Given the description of an element on the screen output the (x, y) to click on. 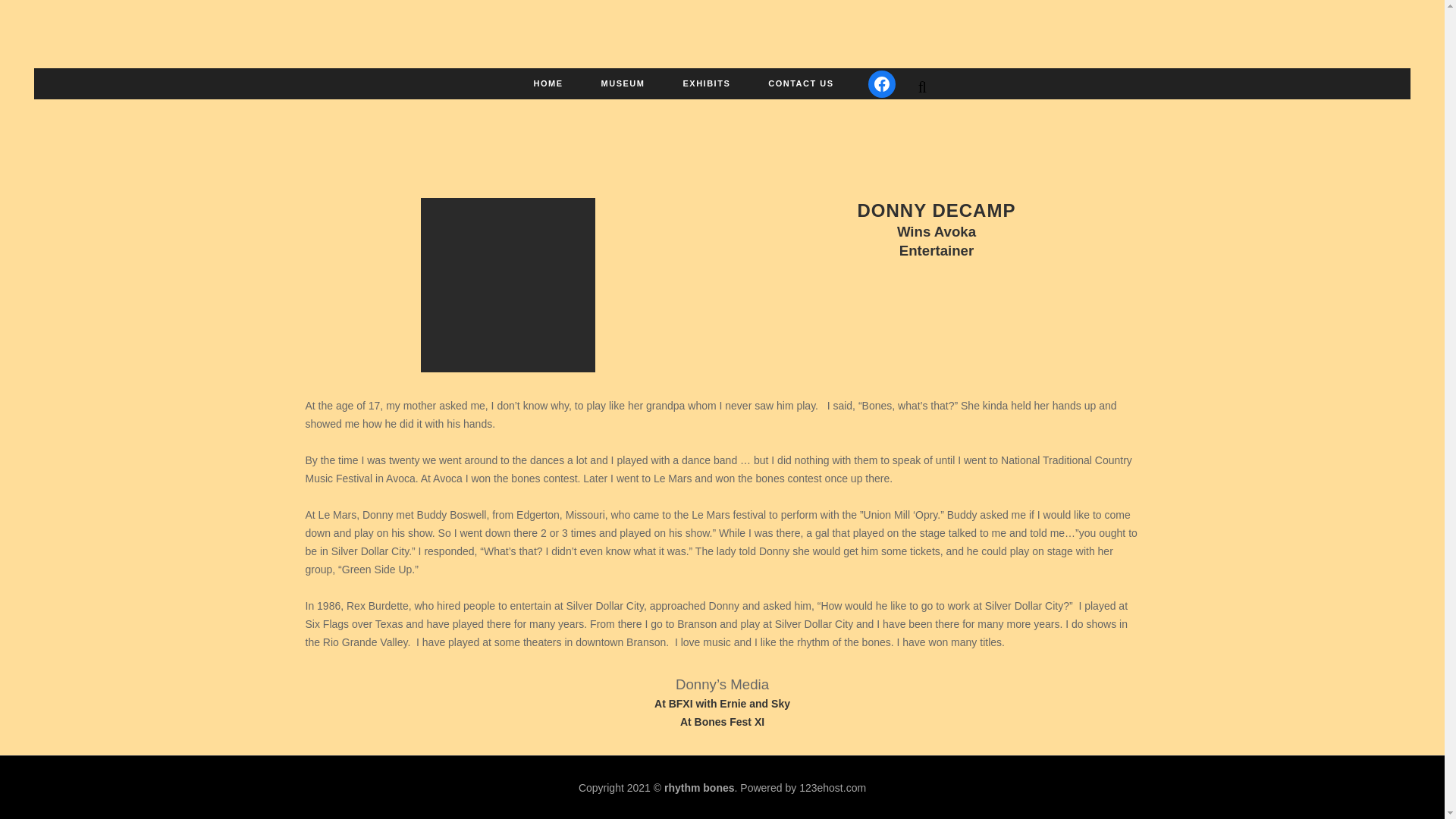
CONTACT US (800, 83)
Entertainer (936, 251)
At BFXI with Ernie and Sky (721, 703)
MUSEUM (622, 83)
EXHIBITS (706, 83)
Facebook (881, 83)
Wins Avoka (935, 232)
HOME (548, 83)
